Given the description of an element on the screen output the (x, y) to click on. 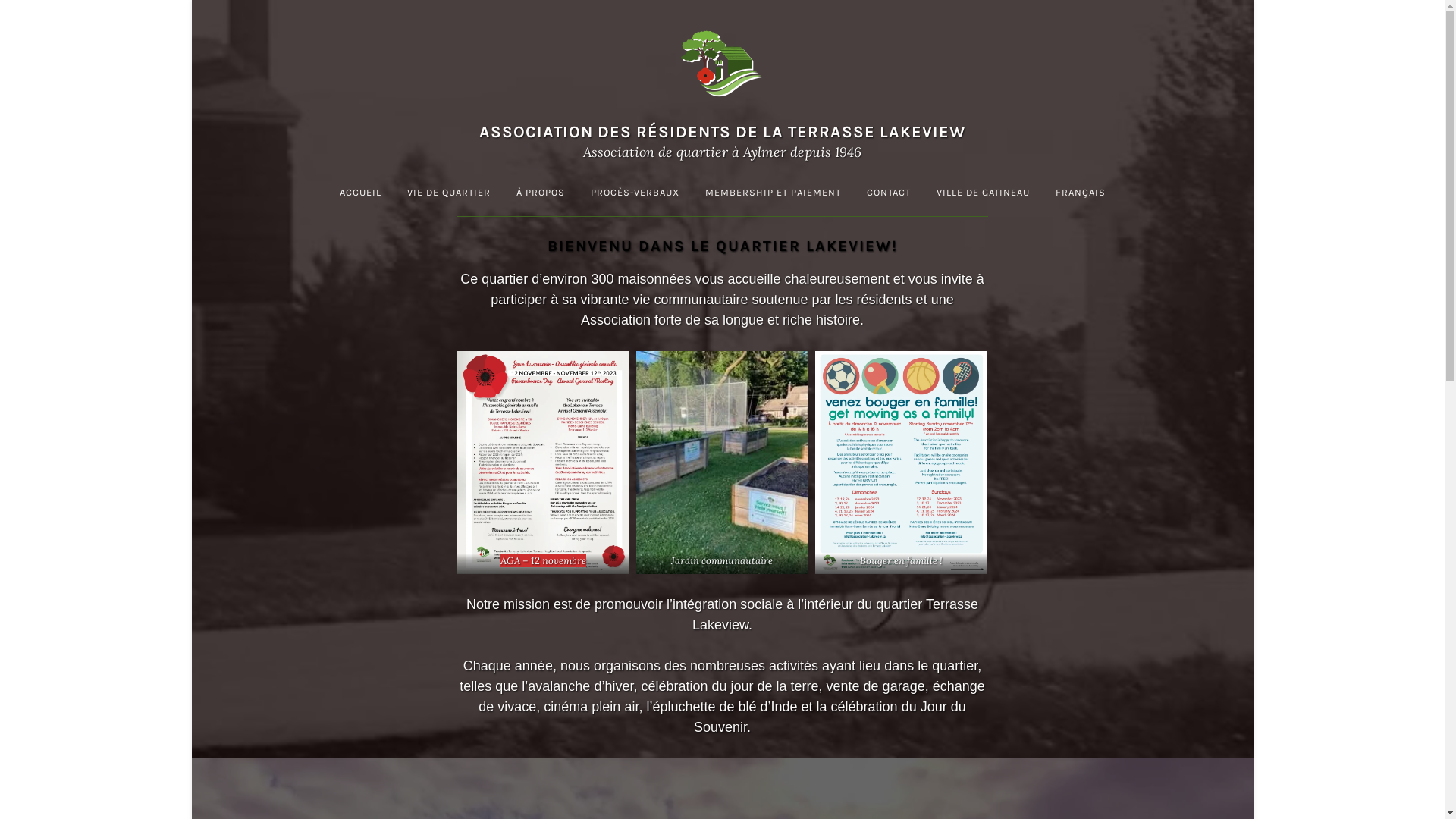
MEMBERSHIP ET PAIEMENT Element type: text (772, 191)
CONTACT Element type: text (888, 191)
VIE DE QUARTIER Element type: text (448, 191)
VILLE DE GATINEAU Element type: text (983, 191)
ACCUEIL Element type: text (359, 191)
